Given the description of an element on the screen output the (x, y) to click on. 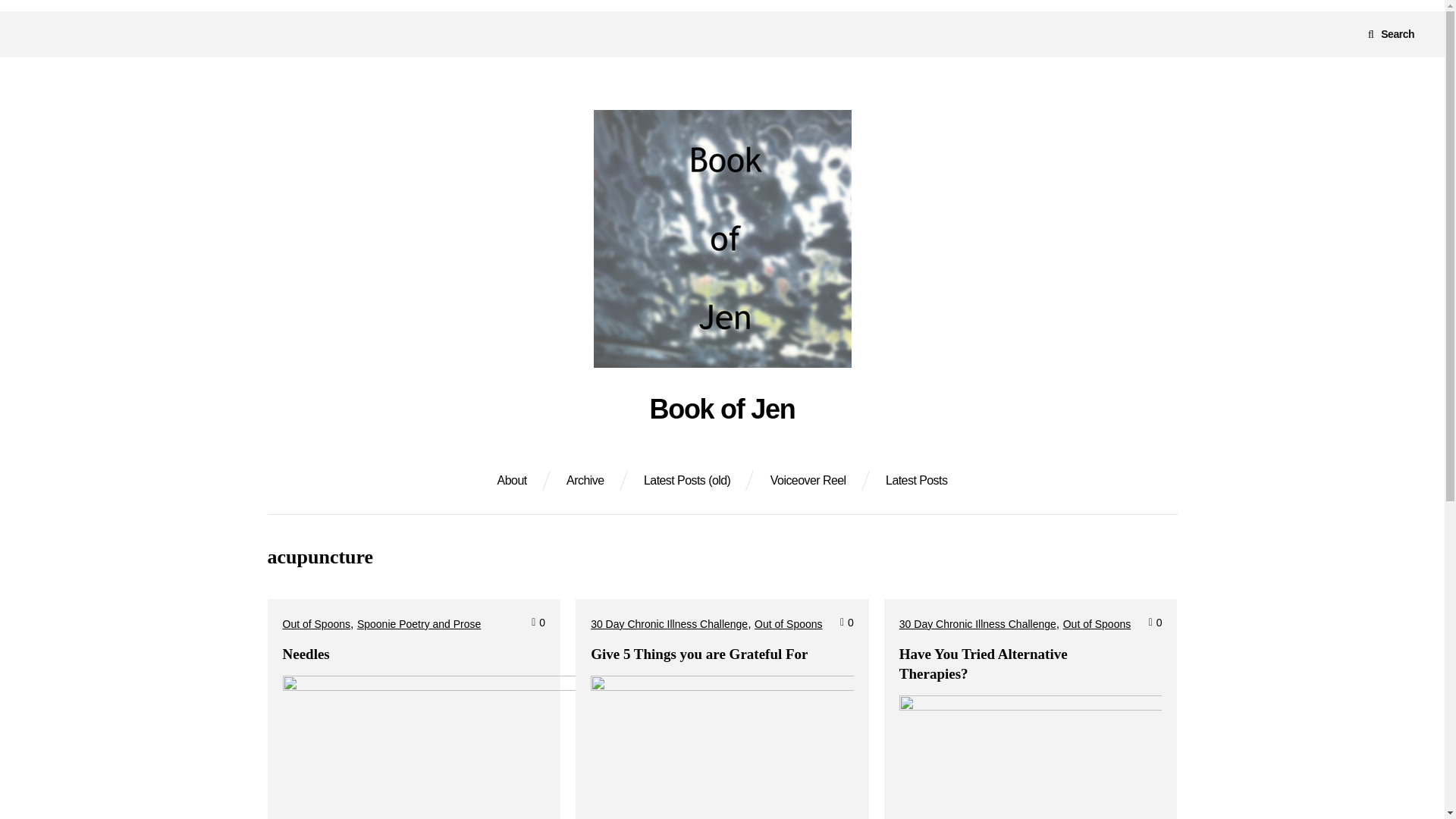
Latest Posts (916, 480)
Give 5 Things you are Grateful For (699, 653)
Out of Spoons (788, 623)
Search (1390, 33)
Voiceover Reel (807, 480)
About (512, 480)
30 Day Chronic Illness Challenge (978, 623)
Have You Tried Alternative Therapies? (983, 663)
Out of Spoons (1096, 623)
Spoonie Poetry and Prose (418, 623)
